Given the description of an element on the screen output the (x, y) to click on. 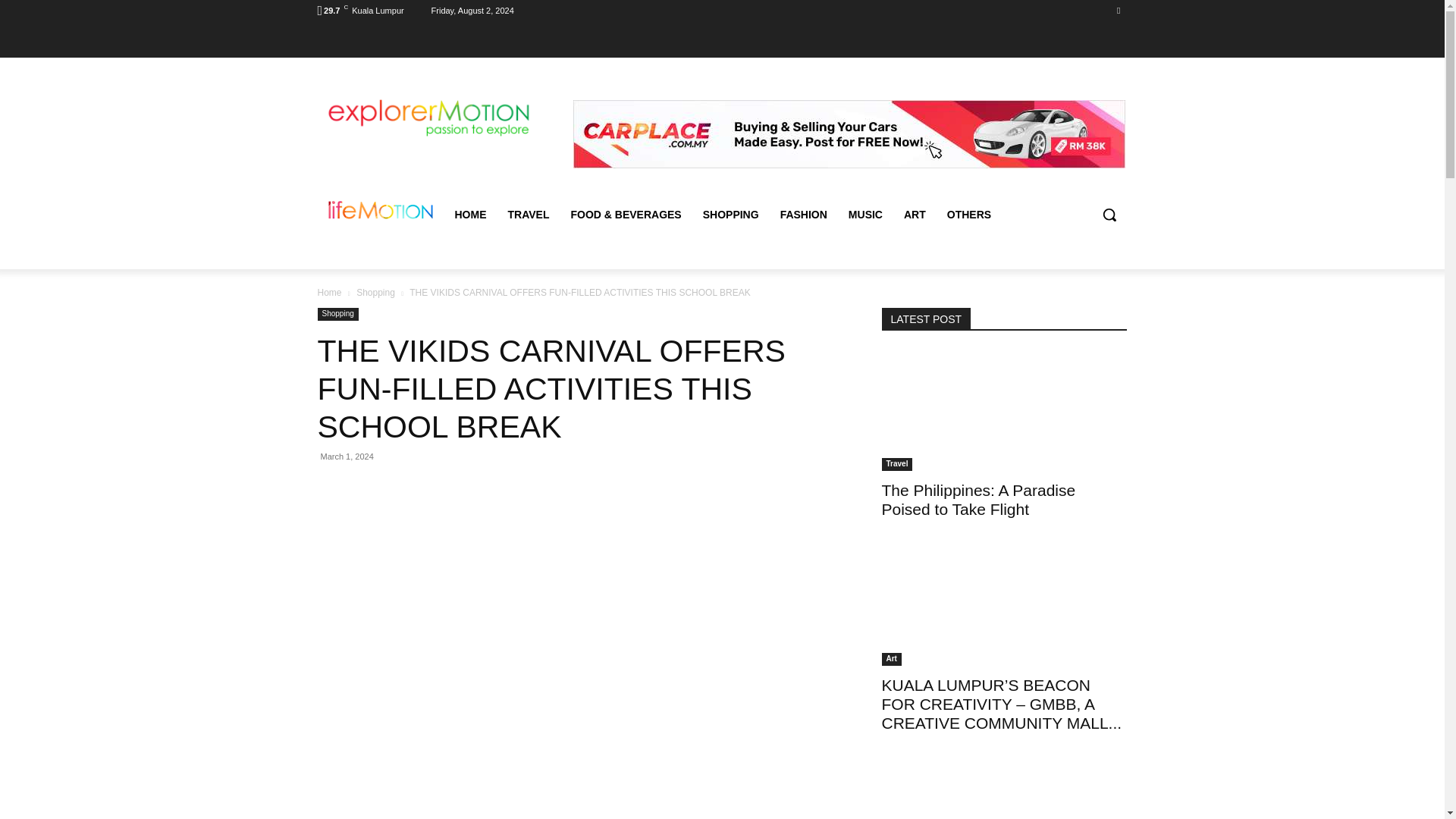
MUSIC (865, 213)
Shopping (337, 314)
Facebook (1117, 9)
Shopping (375, 291)
TRAVEL (528, 213)
FASHION (804, 213)
OTHERS (968, 213)
ART (914, 213)
View all posts in Shopping (375, 291)
HOME (470, 213)
SHOPPING (731, 213)
Home (328, 291)
